Given the description of an element on the screen output the (x, y) to click on. 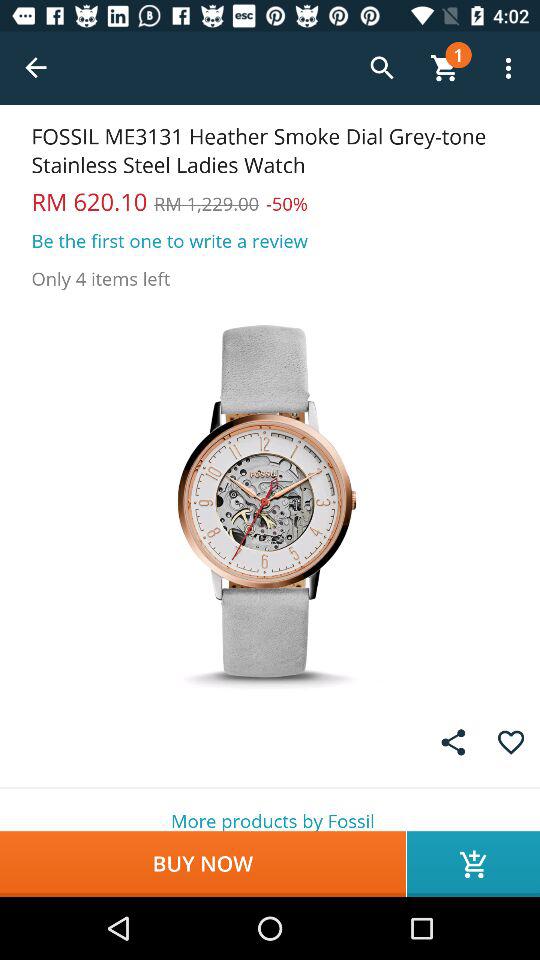
scroll until more products by item (270, 809)
